Given the description of an element on the screen output the (x, y) to click on. 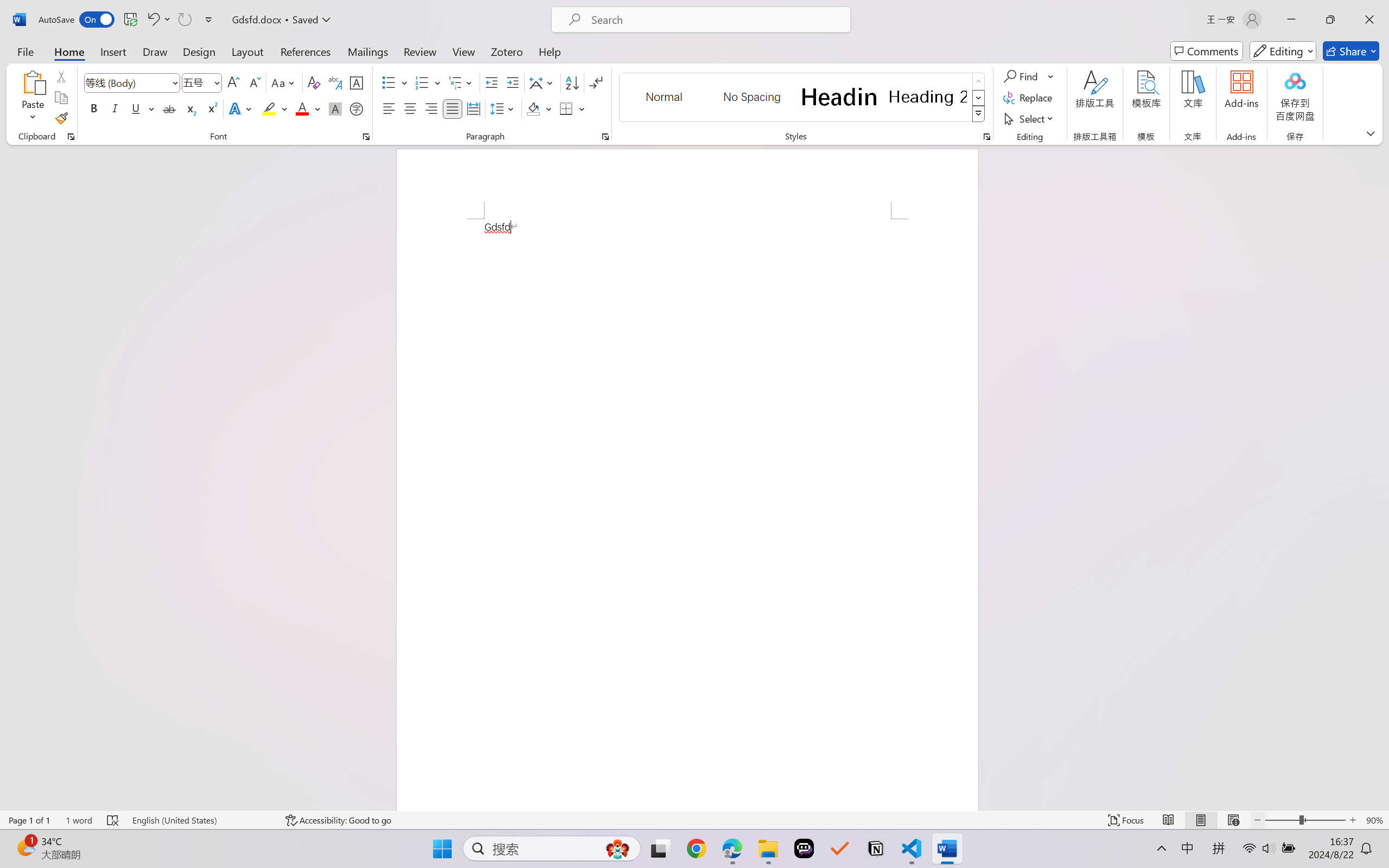
Undo Style (152, 19)
Shading (539, 108)
Font... (365, 136)
Font Color (308, 108)
Clear Formatting (313, 82)
